Given the description of an element on the screen output the (x, y) to click on. 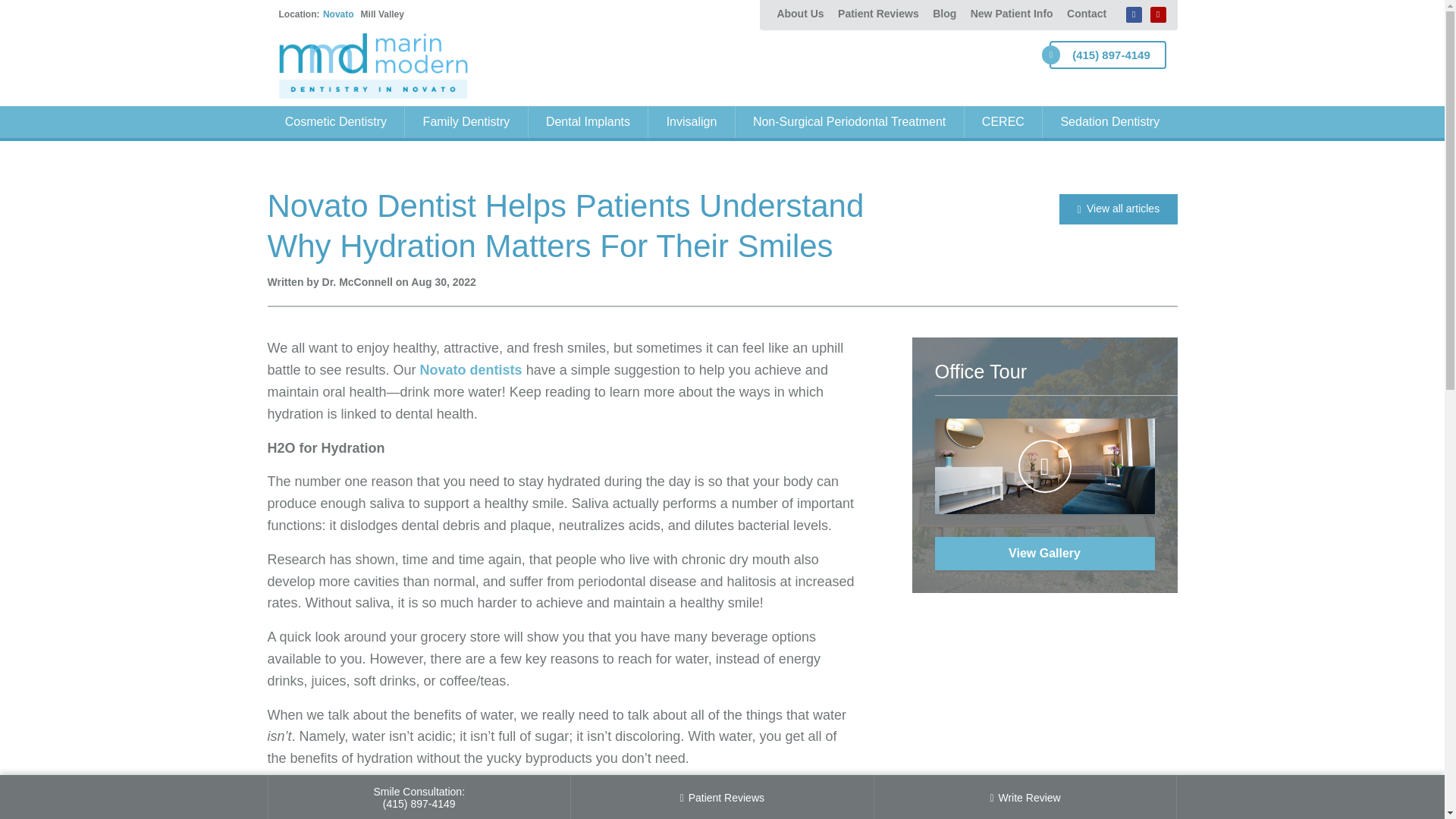
Family Dentistry (465, 122)
About Us (799, 13)
Invisalign (691, 122)
Contact (1083, 13)
Blog (943, 13)
View all articles (1117, 209)
Patient Reviews (878, 13)
Cosmetic Dentistry (335, 122)
facebook (1133, 14)
View Gallery (1044, 553)
Sedation Dentistry (1109, 122)
Novato (338, 14)
CEREC (1003, 122)
yelp (1158, 14)
Dental Implants (588, 122)
